Given the description of an element on the screen output the (x, y) to click on. 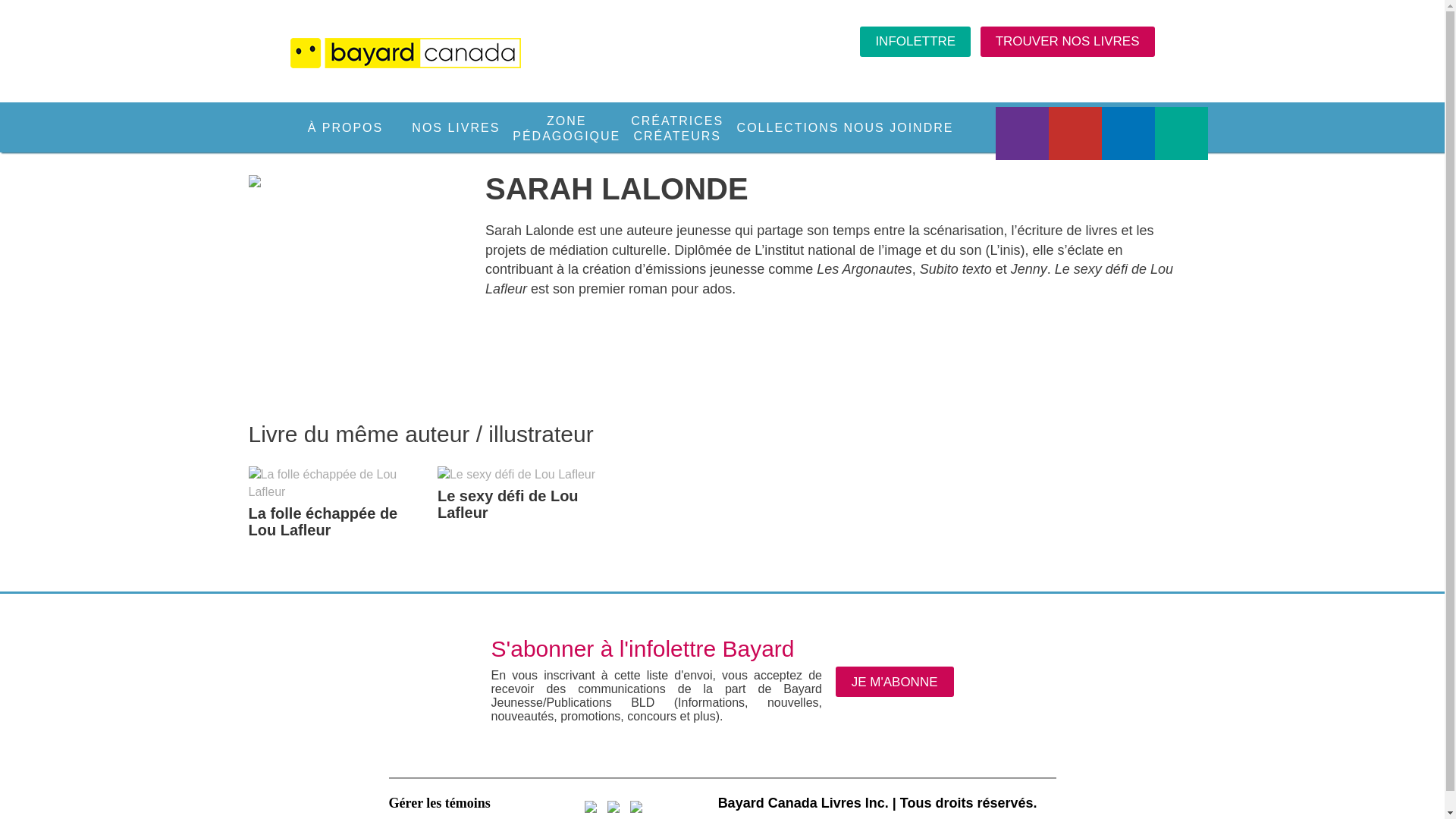
JE M'ABONNE Element type: text (894, 680)
COLLECTIONS Element type: text (787, 127)
INFOLETTRE Element type: text (914, 41)
TROUVER NOS LIVRES Element type: text (1067, 41)
NOS LIVRES Element type: text (455, 127)
NOUS JOINDRE Element type: text (898, 127)
